Given the description of an element on the screen output the (x, y) to click on. 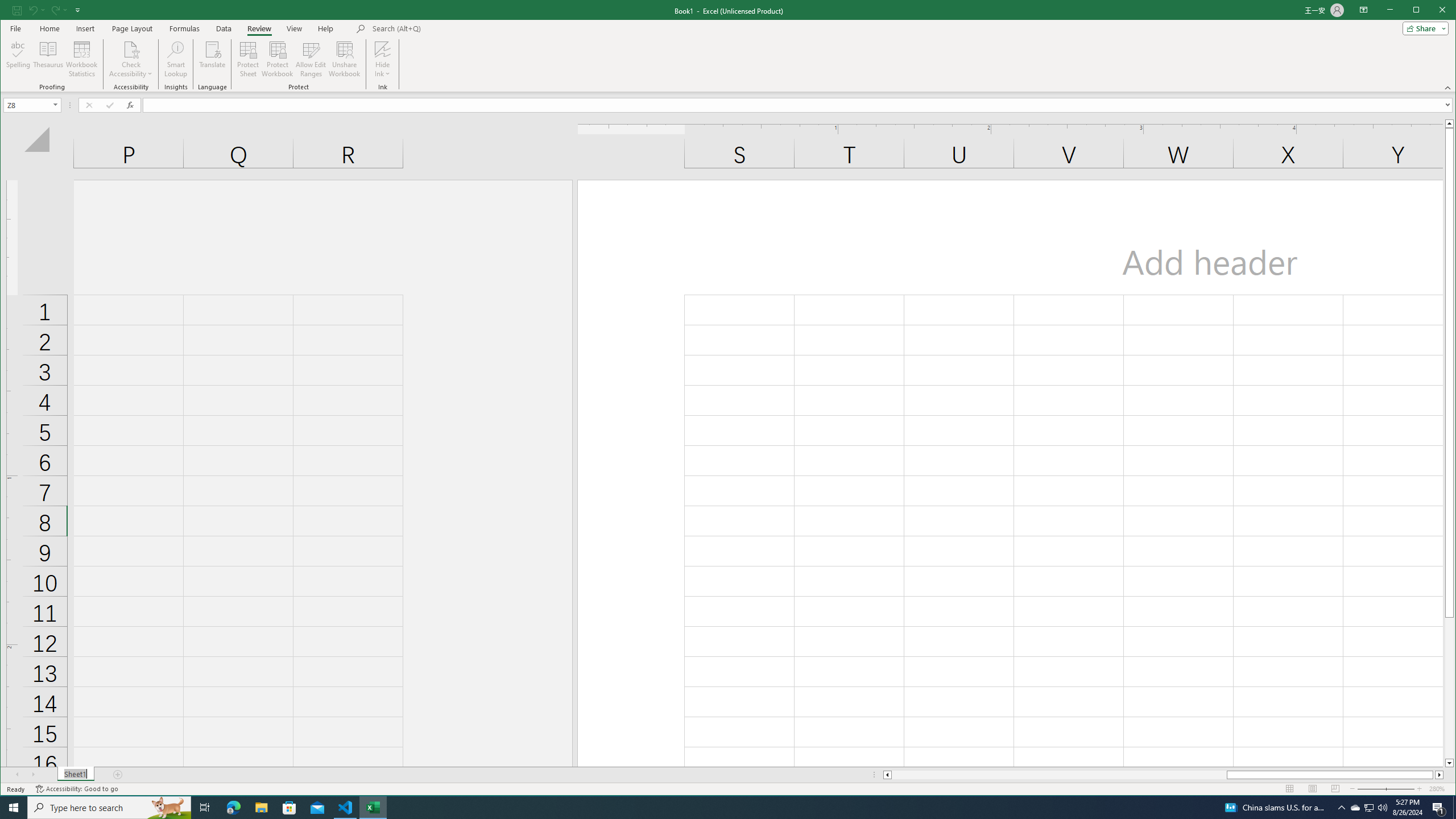
Sheet Tab (75, 774)
Type here to search (108, 807)
Workbook Statistics (82, 59)
Notification Chevron (1341, 807)
Allow Edit Ranges (310, 59)
